Given the description of an element on the screen output the (x, y) to click on. 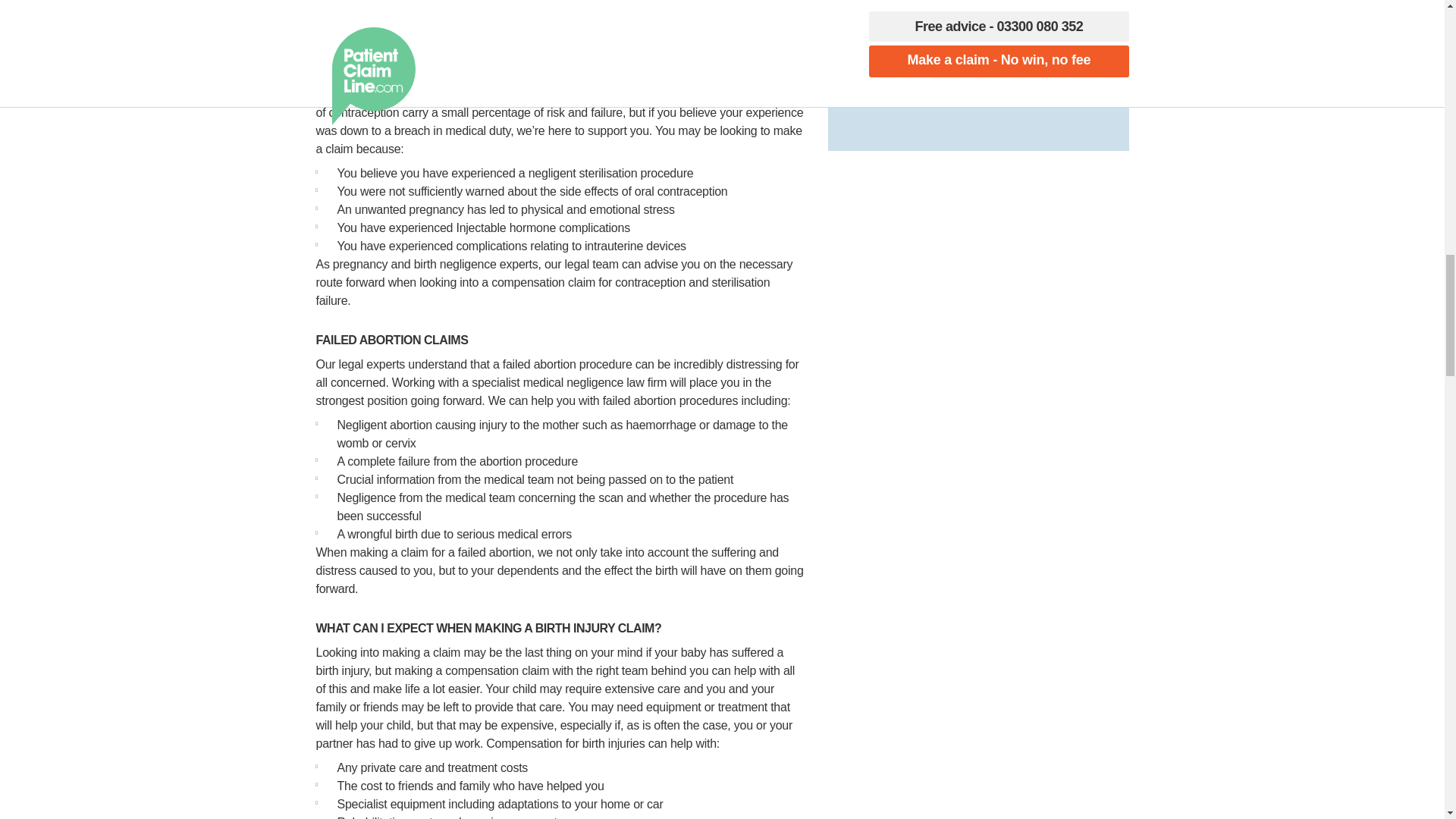
Adrian Denson (881, 79)
